Given the description of an element on the screen output the (x, y) to click on. 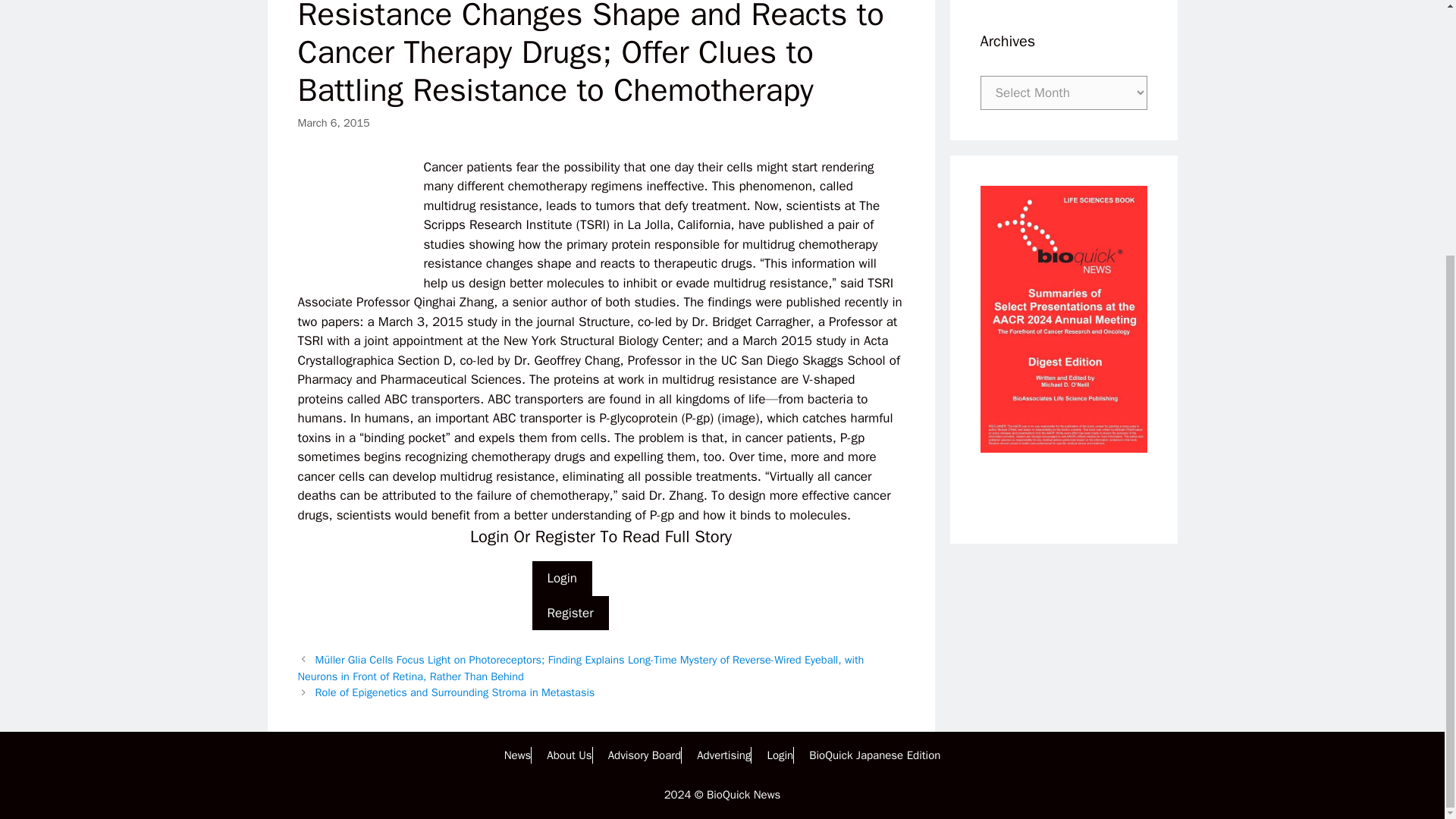
Role of Epigenetics and Surrounding Stroma in Metastasis (455, 692)
News (517, 755)
About Us (569, 755)
Advisory Board (644, 755)
Advertising (724, 755)
Login (562, 578)
Login (780, 755)
BioQuick Japanese Edition (874, 755)
Register (570, 613)
